Given the description of an element on the screen output the (x, y) to click on. 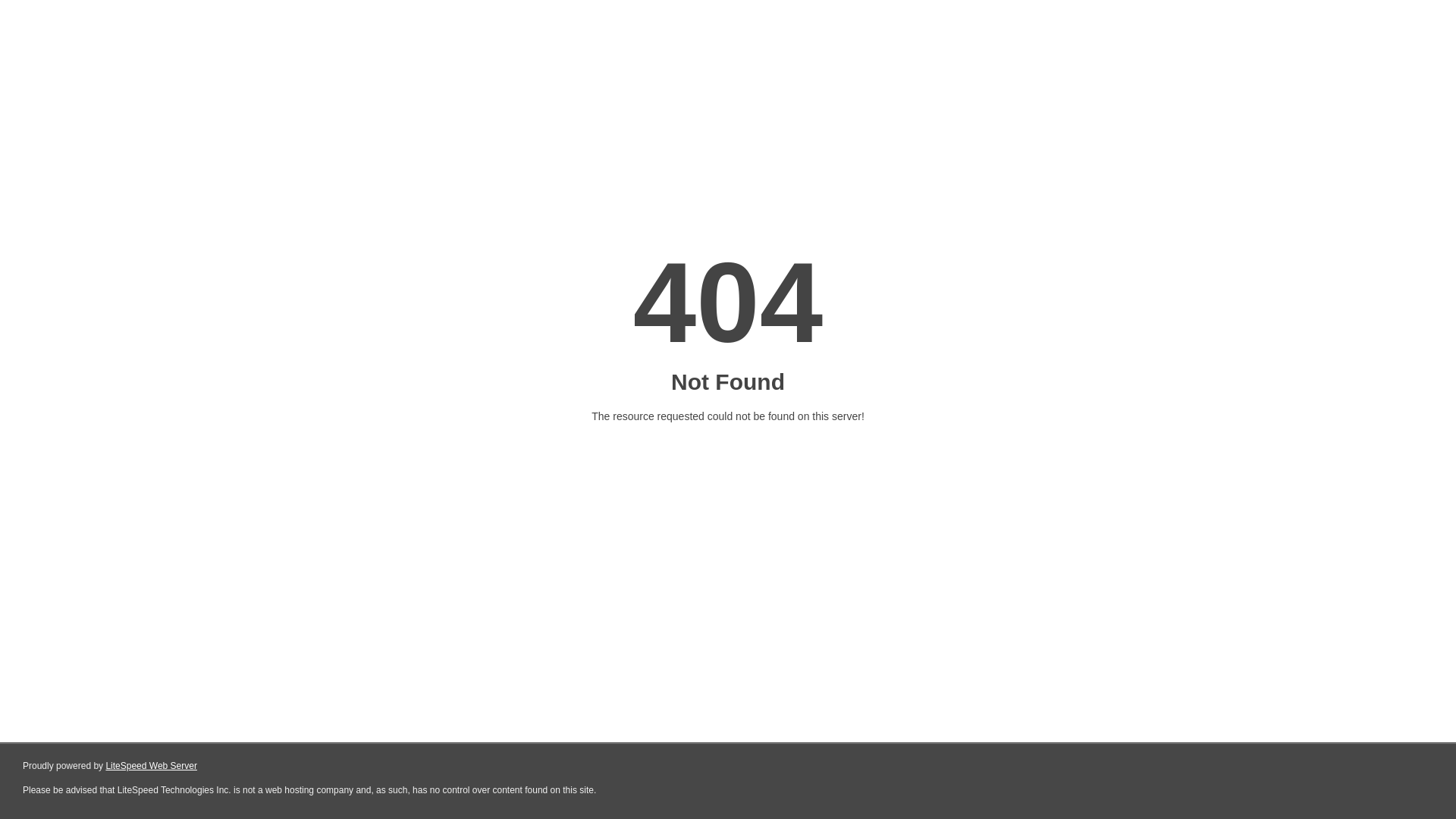
LiteSpeed Web Server Element type: text (151, 765)
